Given the description of an element on the screen output the (x, y) to click on. 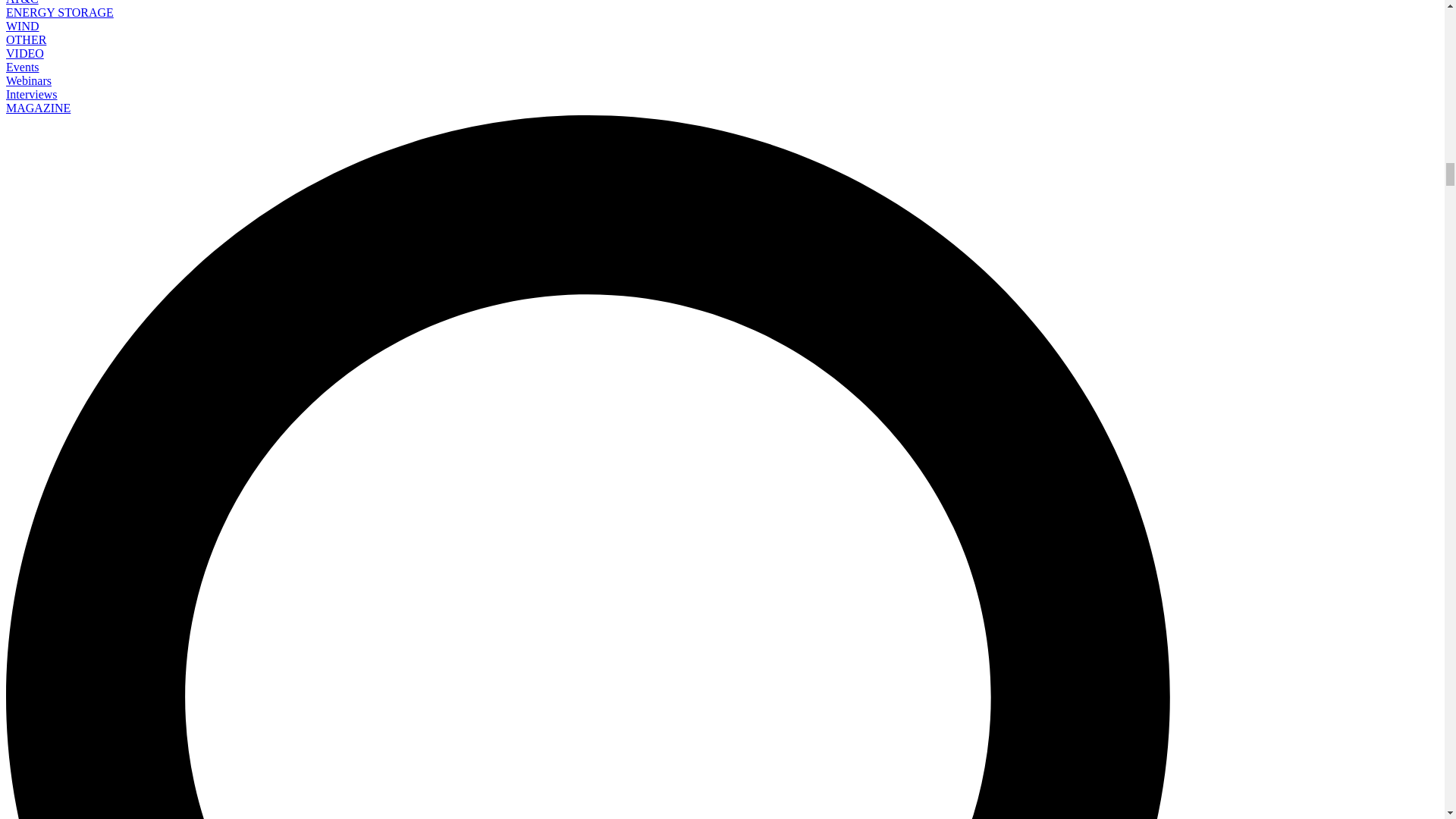
WIND (22, 25)
OTHER (25, 39)
ENERGY STORAGE (59, 11)
Events (22, 66)
Interviews (31, 93)
VIDEO (24, 52)
Webinars (27, 80)
